Given the description of an element on the screen output the (x, y) to click on. 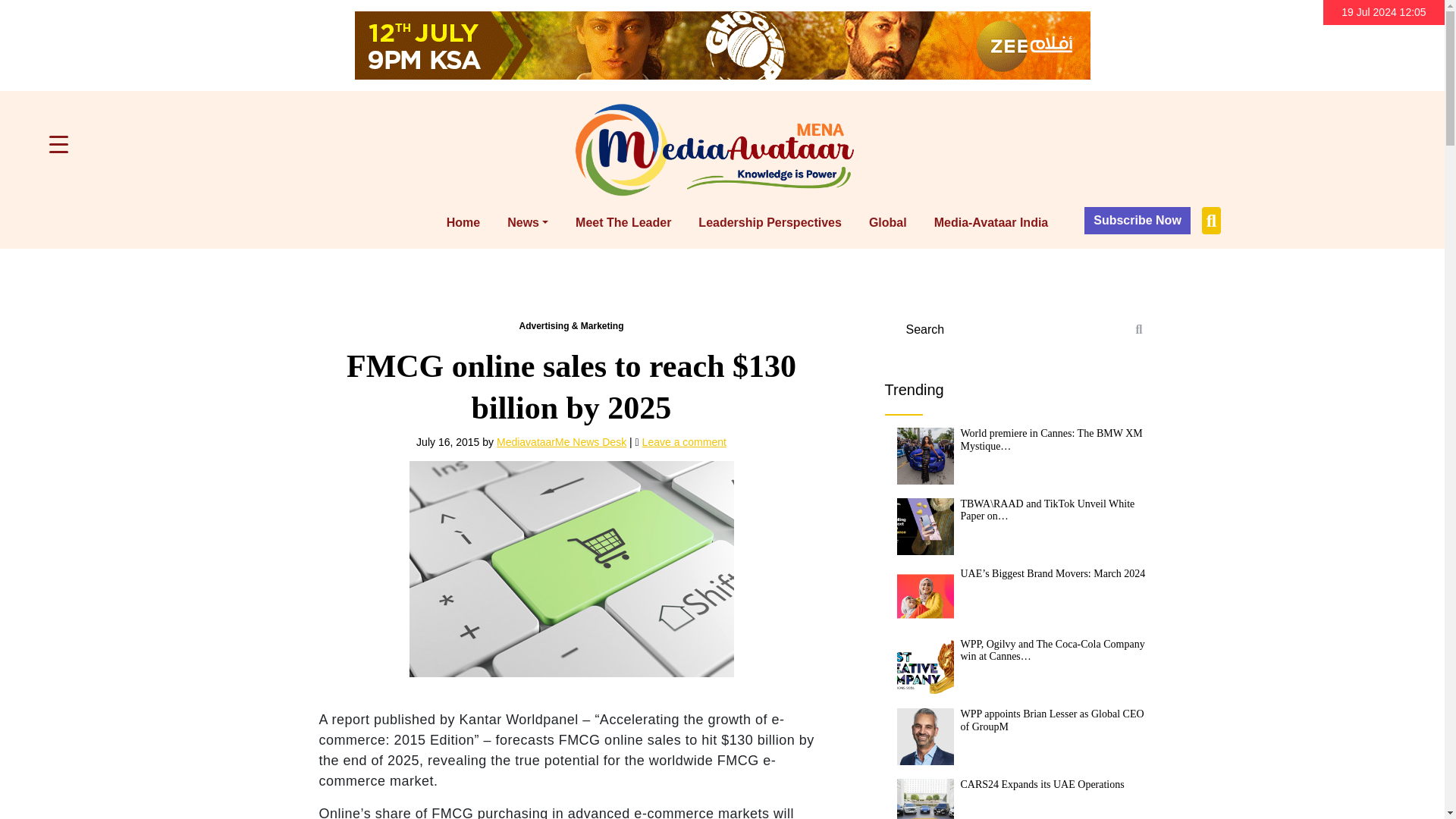
Meet The Leader (623, 223)
Home (463, 223)
Subscribe Now (1137, 220)
CARS24 Expands its UAE Operations (924, 798)
Media-Avataar India (991, 223)
Leadership Perspectives (770, 223)
UAE's Biggest Brand Movers: March 2024 (924, 596)
Global (887, 223)
News (527, 223)
WPP appoints Brian Lesser as Global CEO of GroupM (924, 736)
